Given the description of an element on the screen output the (x, y) to click on. 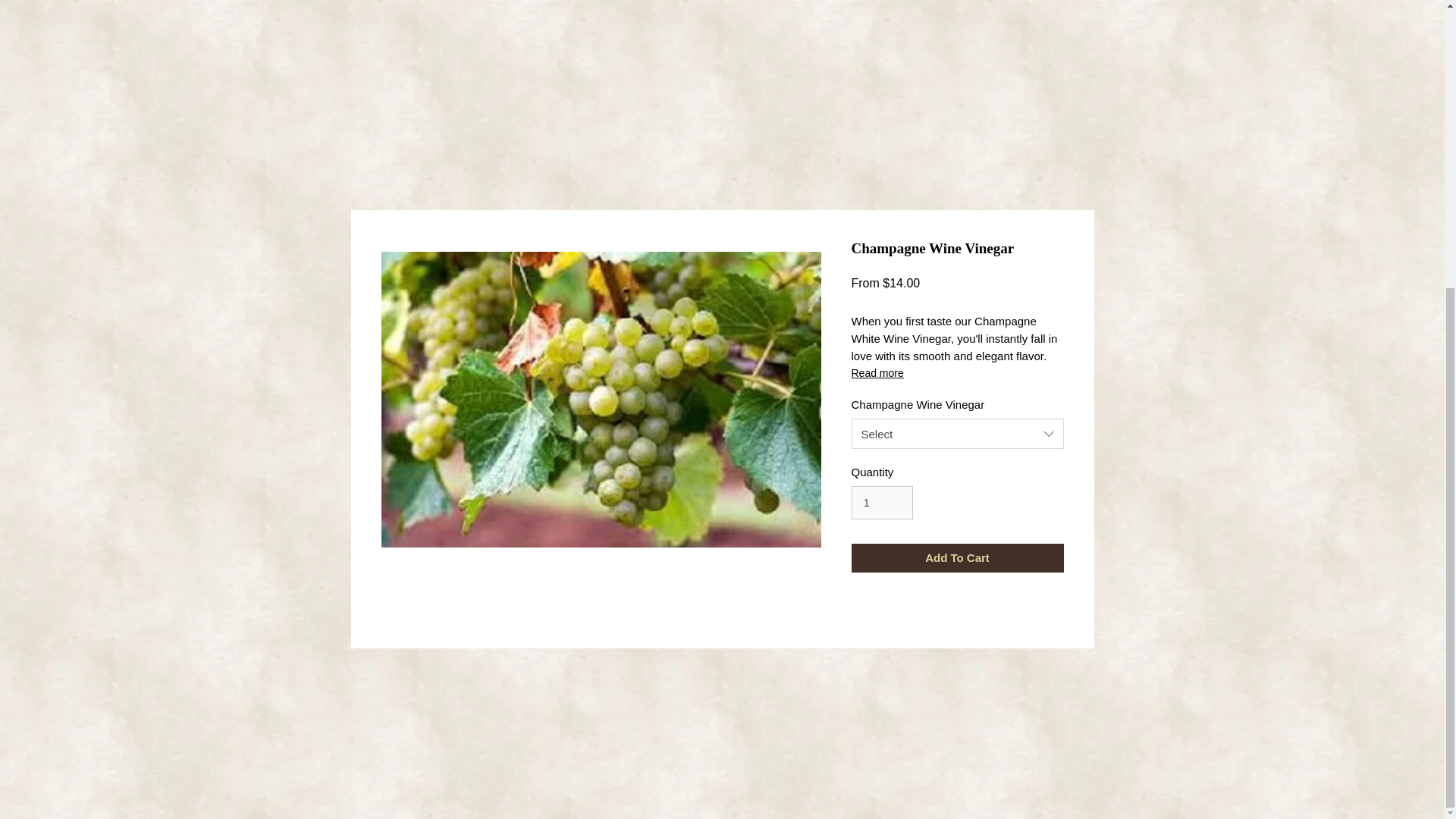
Read more (956, 372)
1 (881, 502)
Select (956, 433)
Add To Cart (956, 558)
